Given the description of an element on the screen output the (x, y) to click on. 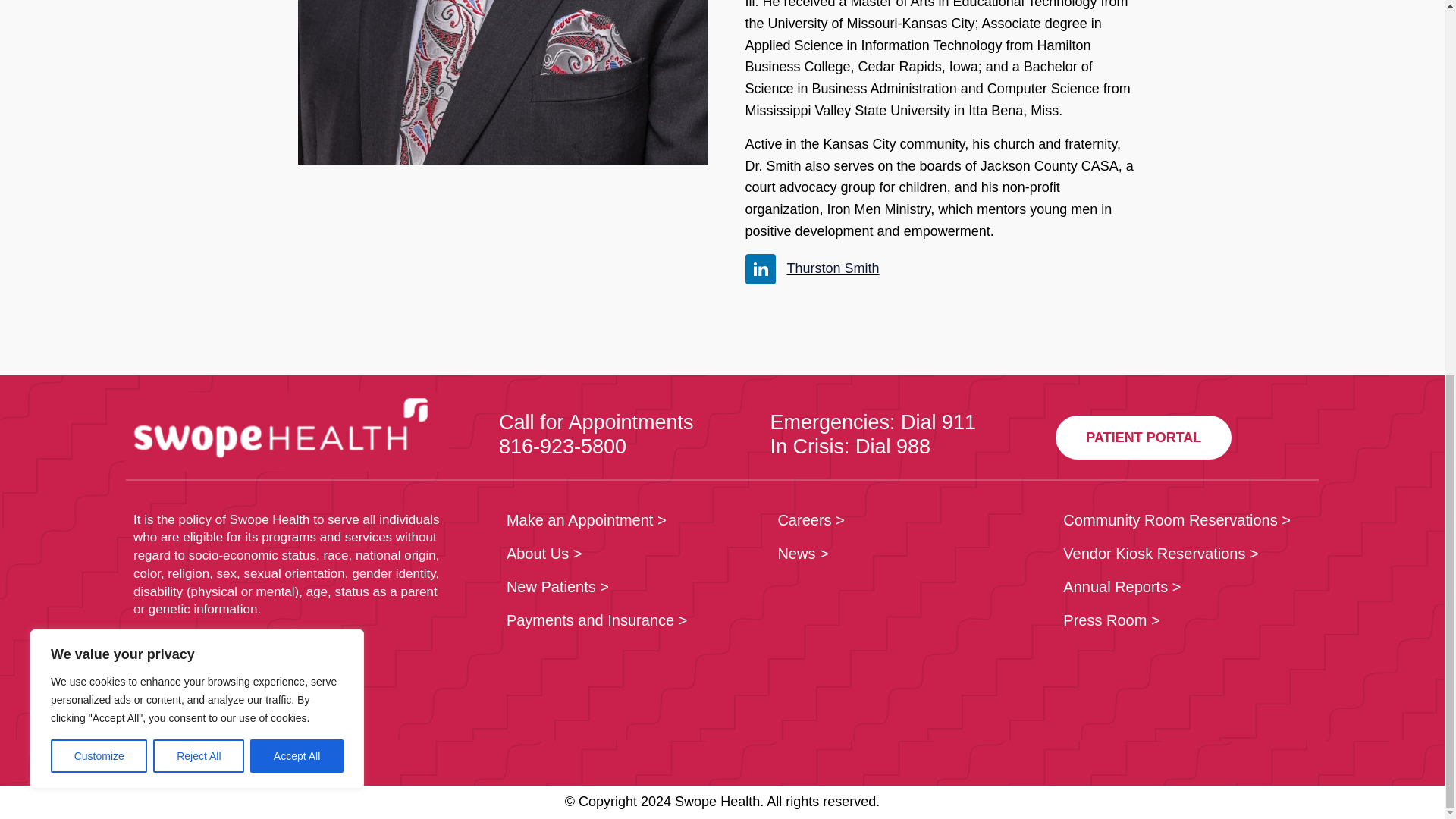
Customize (98, 66)
Accept All (296, 66)
Reject All (198, 66)
